Given the description of an element on the screen output the (x, y) to click on. 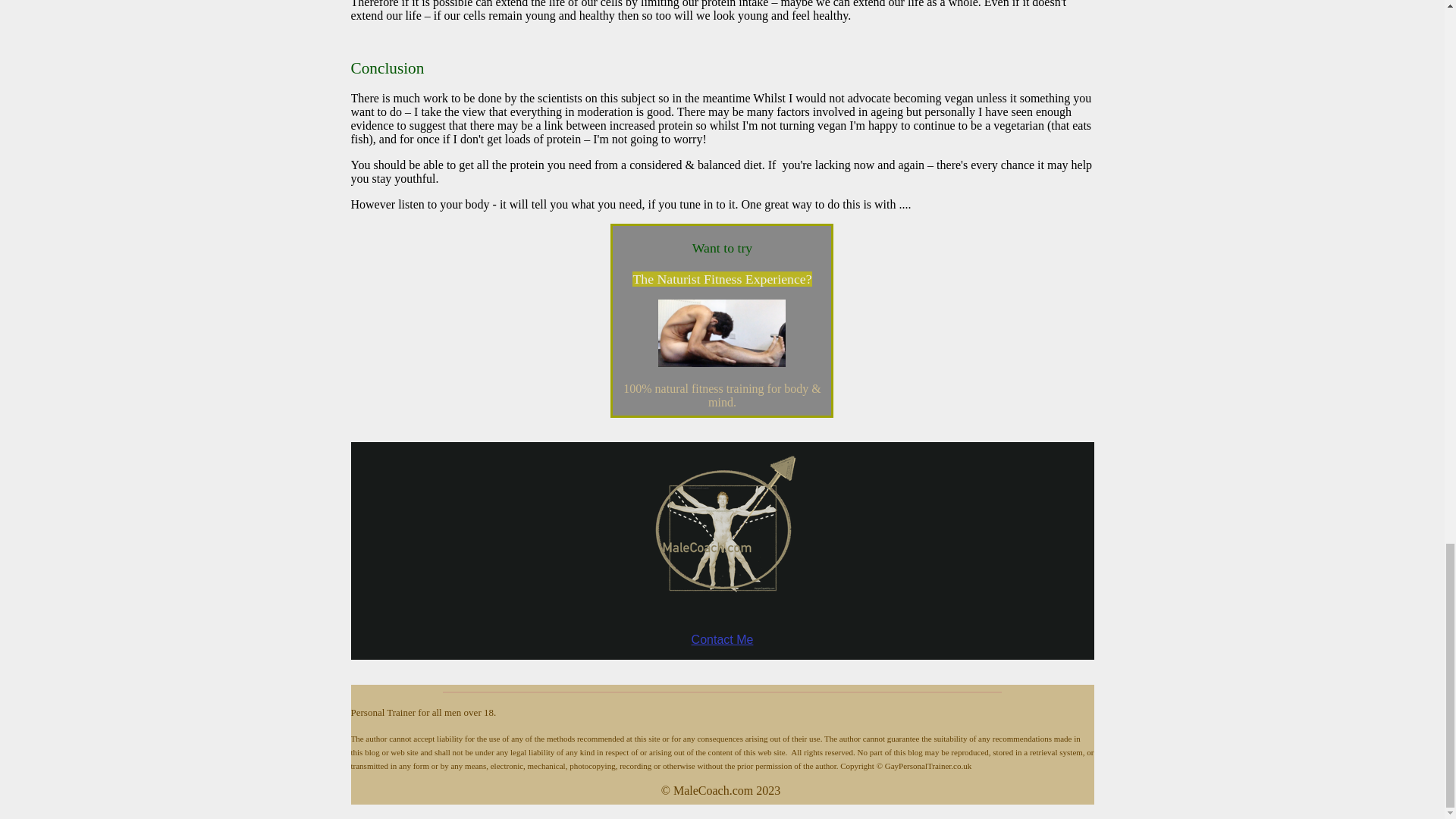
Contact Me (722, 639)
male coach logo in style of vitruvian man  (721, 536)
